Given the description of an element on the screen output the (x, y) to click on. 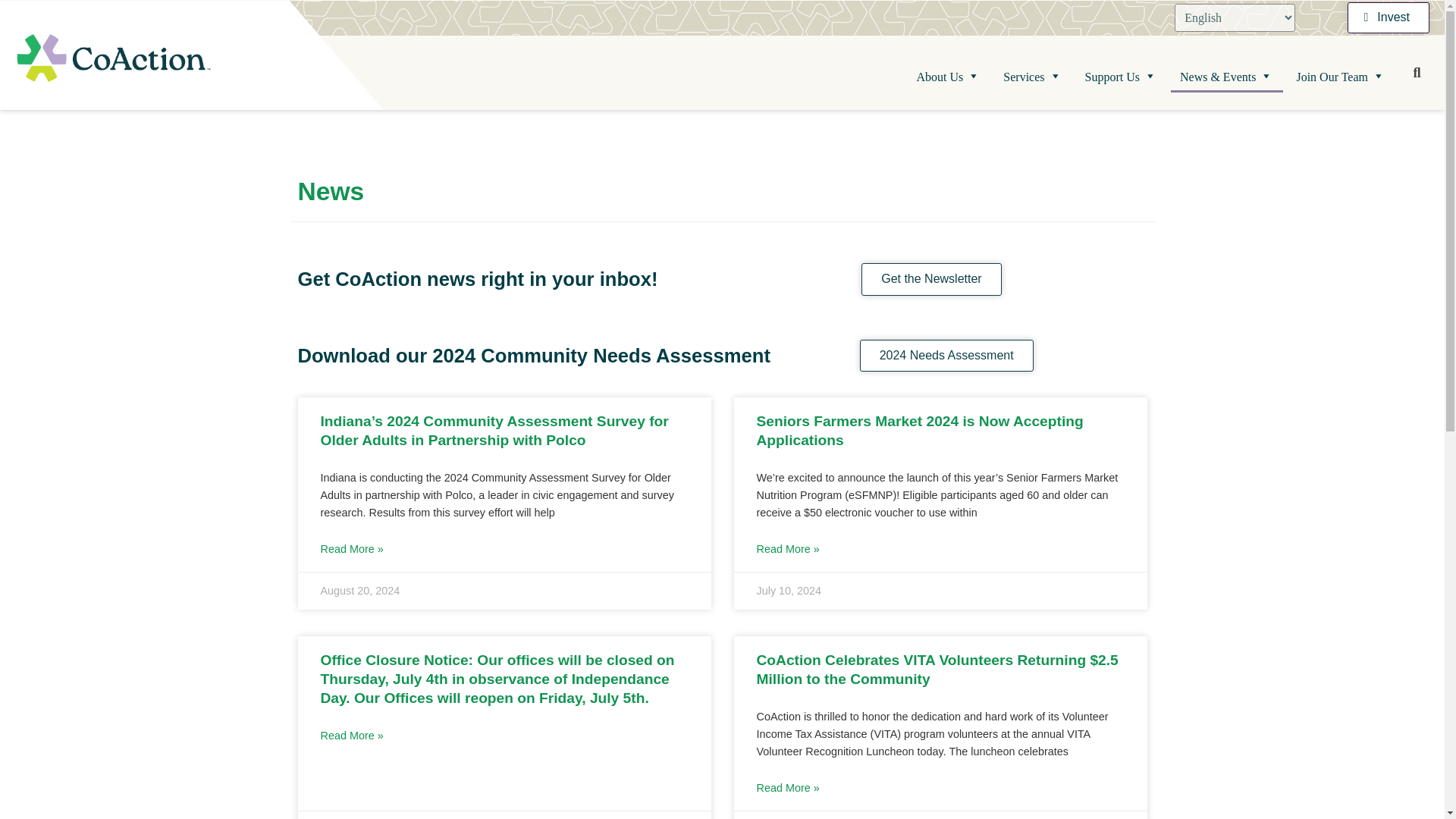
Services (1032, 77)
Invest (1388, 17)
Support Us (1121, 77)
About Us (949, 77)
